Given the description of an element on the screen output the (x, y) to click on. 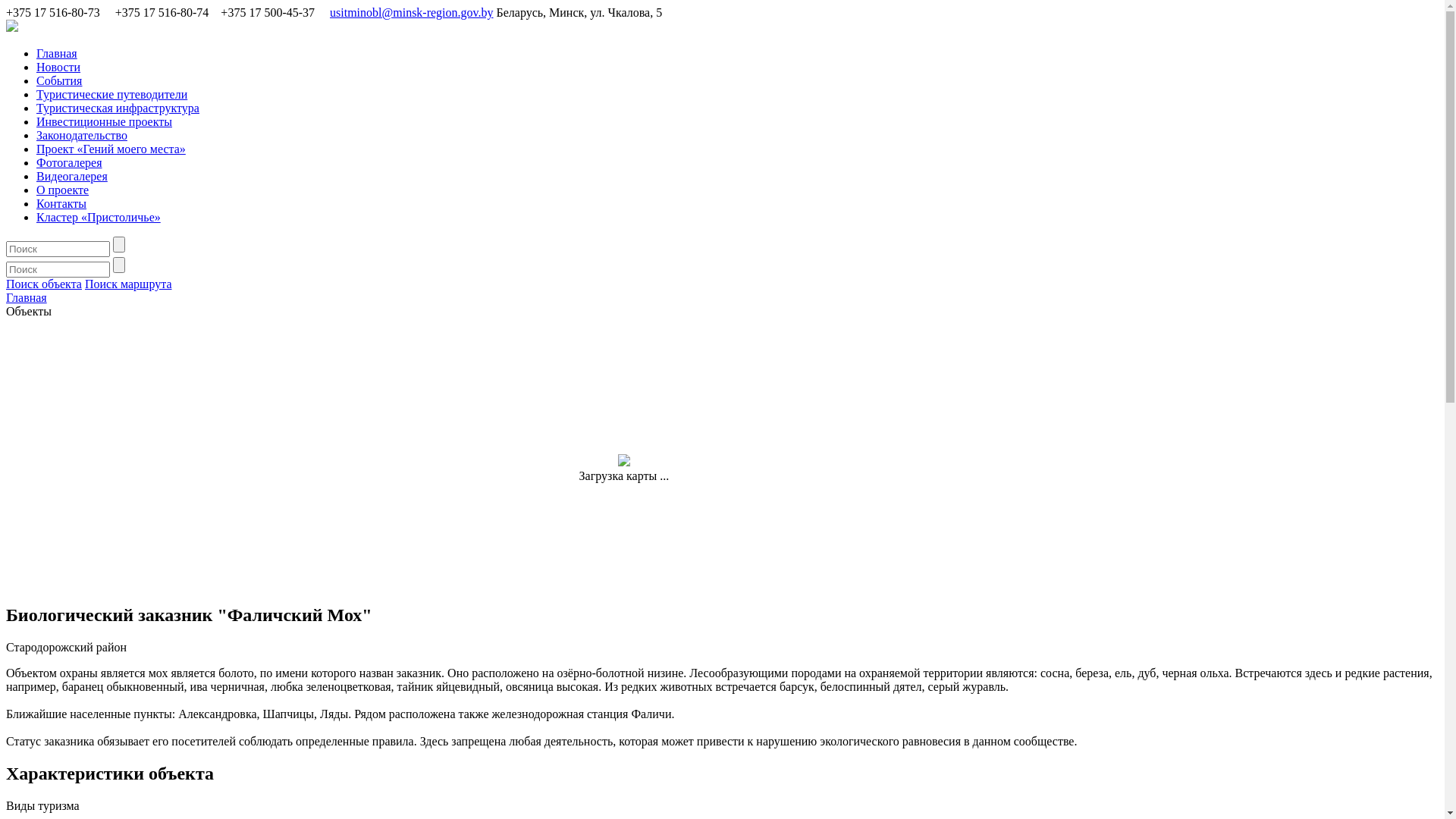
usitminobl@minsk-region.gov.by Element type: text (410, 12)
